Given the description of an element on the screen output the (x, y) to click on. 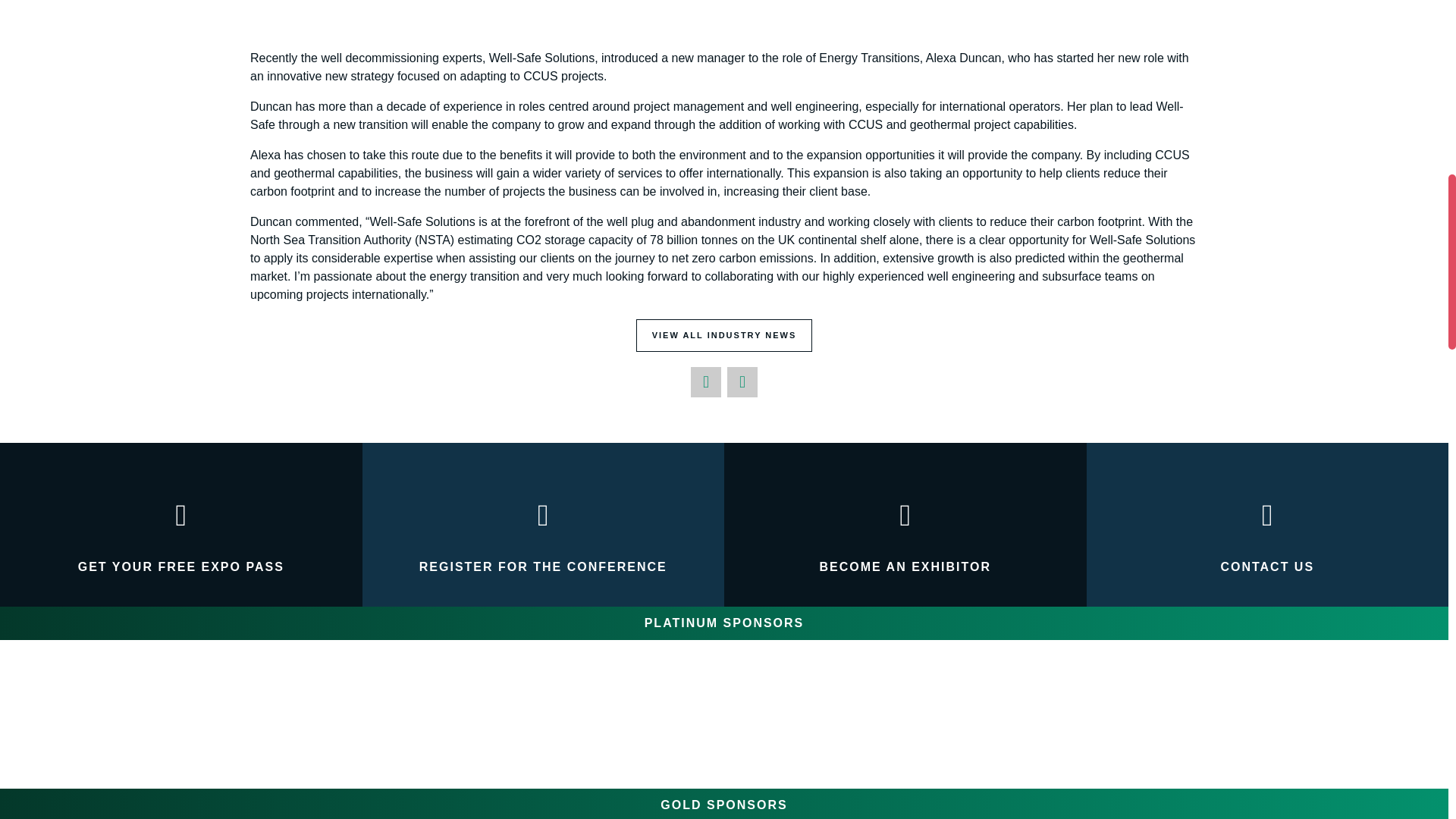
VIEW ALL INDUSTRY NEWS (724, 335)
